Given the description of an element on the screen output the (x, y) to click on. 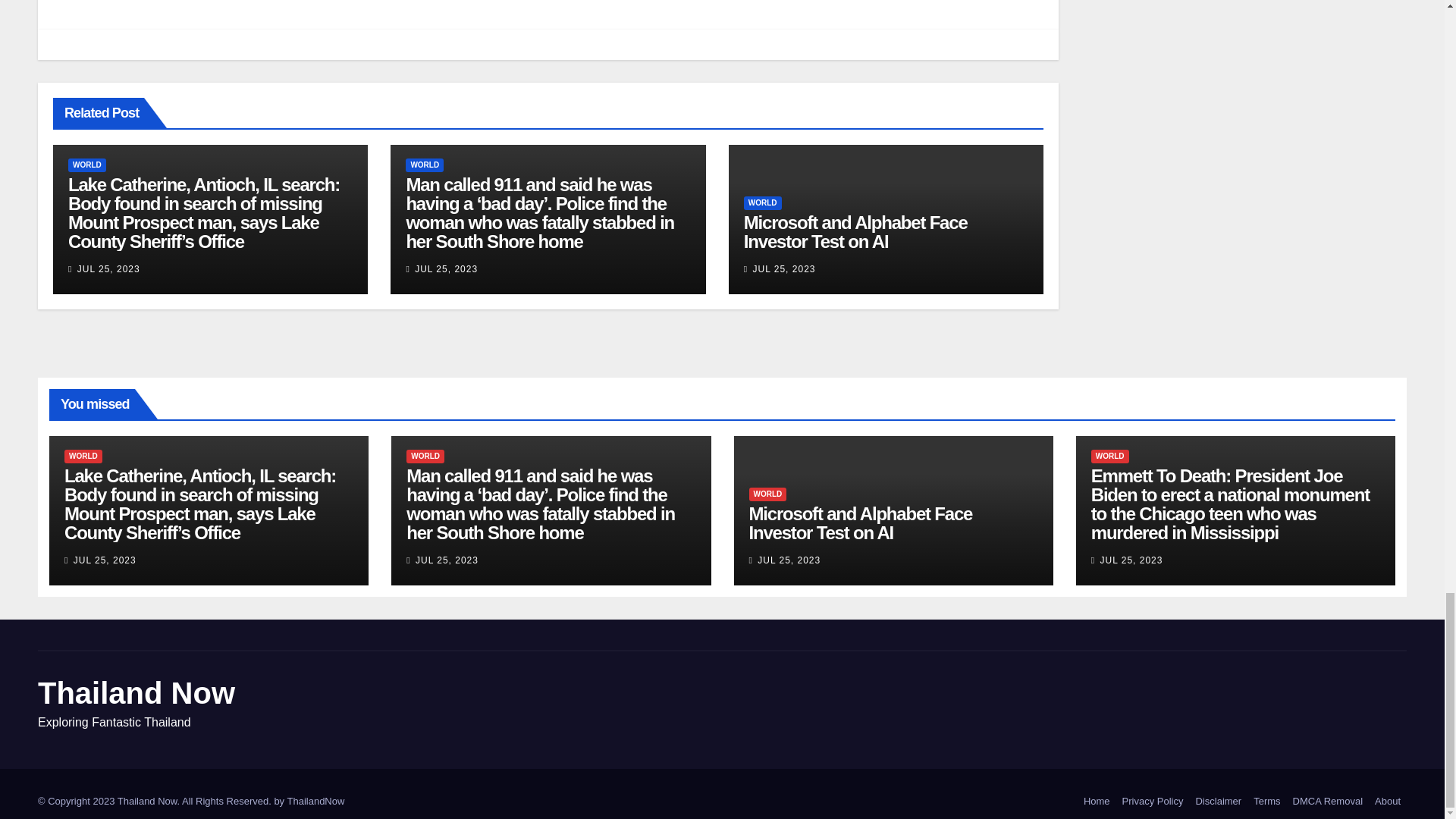
WORLD (87, 164)
JUL 25, 2023 (108, 268)
Microsoft and Alphabet Face Investor Test on AI (856, 231)
WORLD (762, 202)
JUL 25, 2023 (445, 268)
JUL 25, 2023 (783, 268)
WORLD (425, 164)
